Given the description of an element on the screen output the (x, y) to click on. 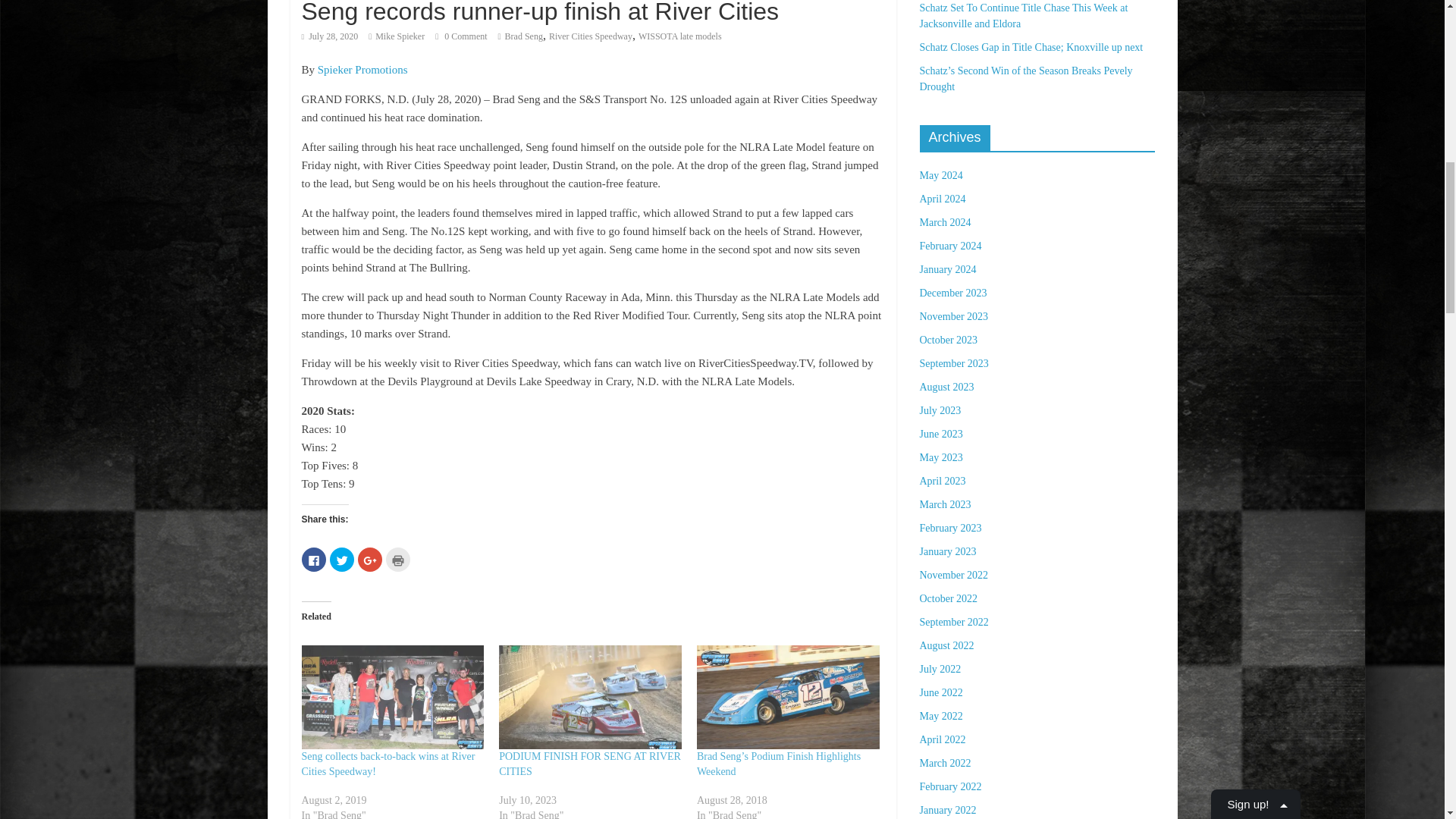
8:11 pm (329, 36)
Click to share on Facebook (313, 559)
Mike Spieker (400, 36)
Click to print (397, 559)
Click to share on Twitter (341, 559)
July 28, 2020 (329, 36)
Mike Spieker (400, 36)
0 Comment (460, 36)
Brad Seng (524, 36)
